Given the description of an element on the screen output the (x, y) to click on. 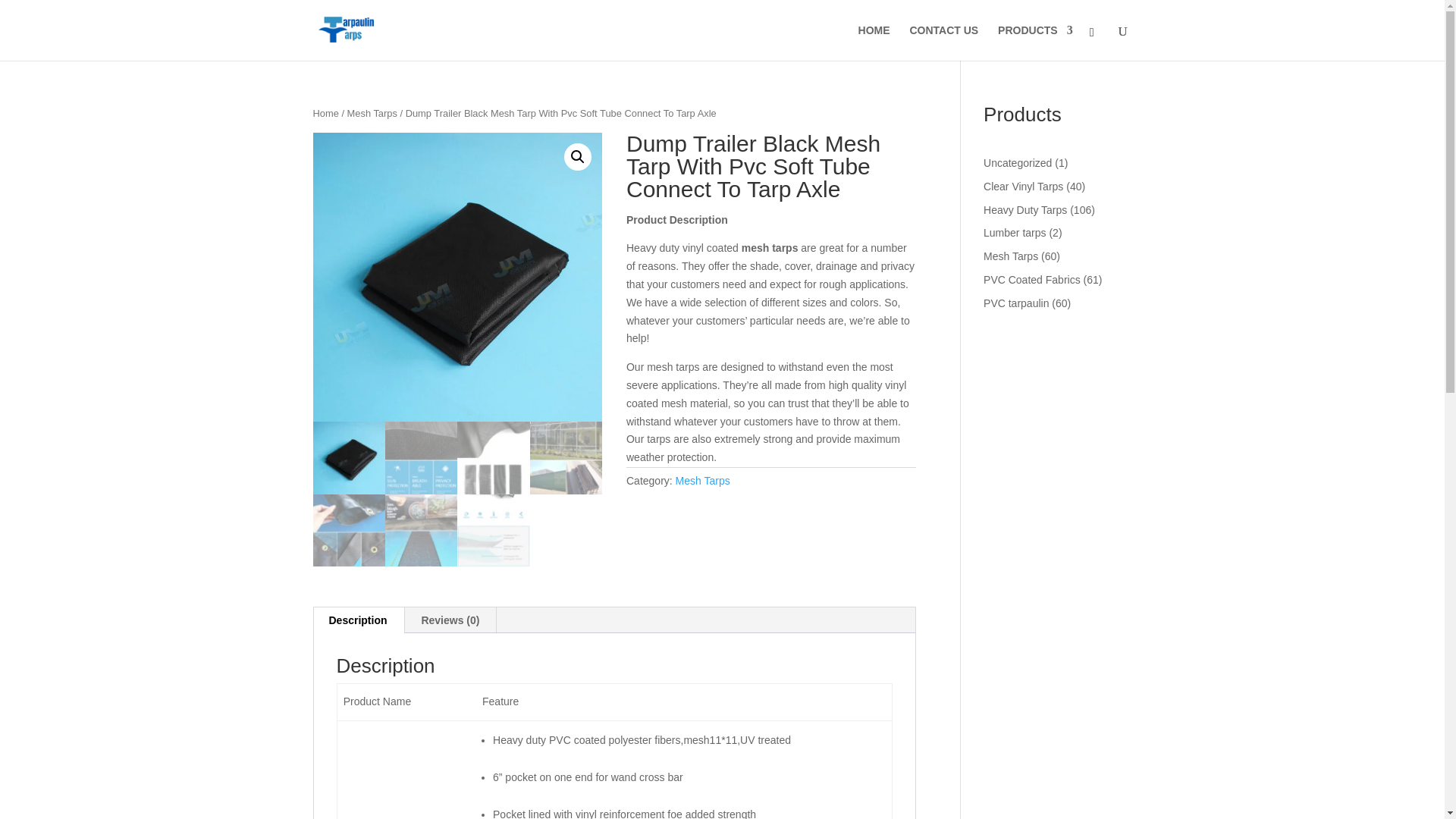
Home (325, 112)
Uncategorized (1017, 162)
Mesh Tarps (702, 480)
Mesh Tarps (372, 112)
PRODUCTS (1035, 42)
HOME (874, 42)
Description (358, 620)
CONTACT US (943, 42)
Mesh-Dump-Truck-Tarp-21040805 (457, 277)
Clear Vinyl Tarps (1023, 186)
